Given the description of an element on the screen output the (x, y) to click on. 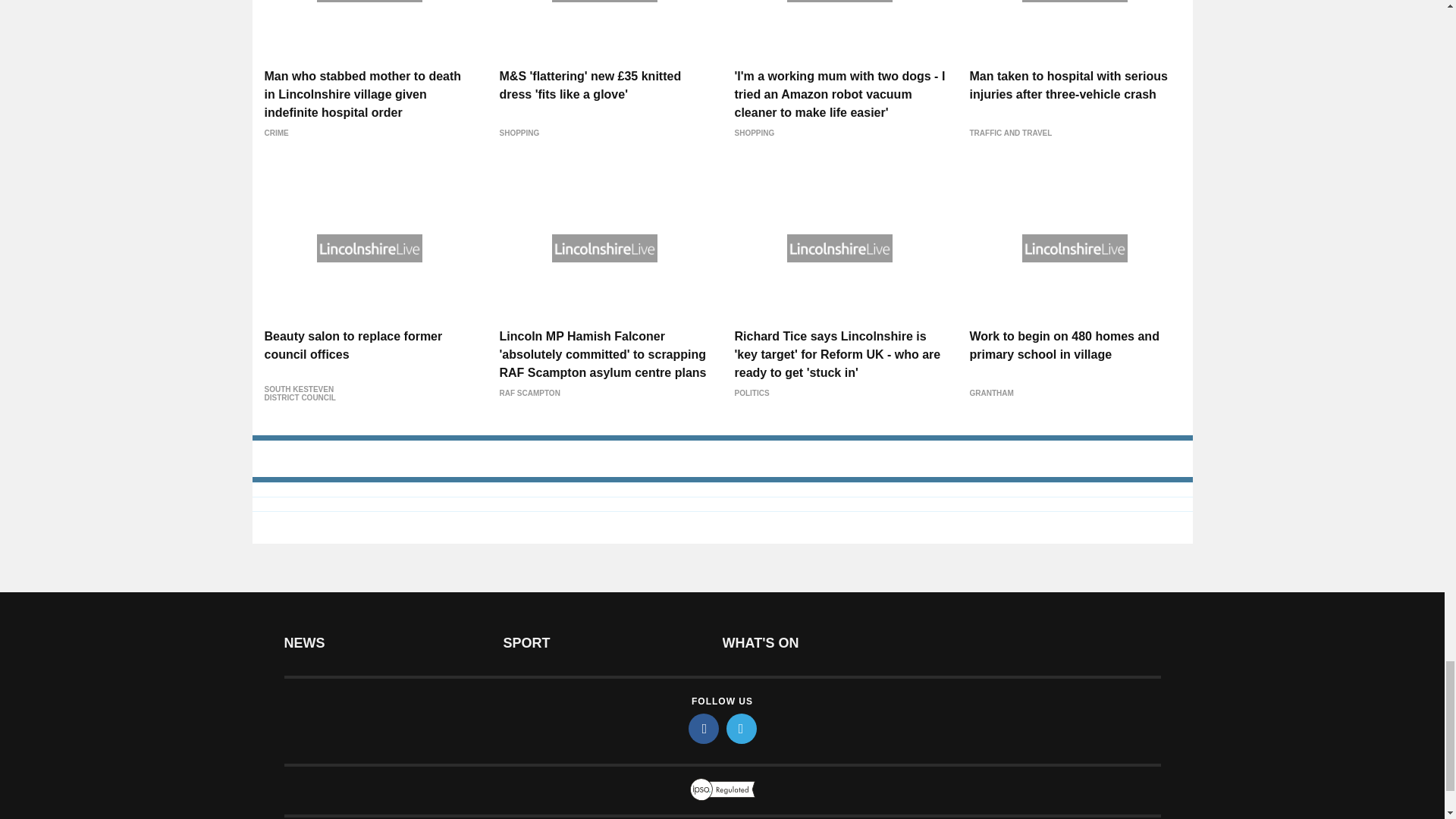
twitter (741, 728)
facebook (703, 728)
